Given the description of an element on the screen output the (x, y) to click on. 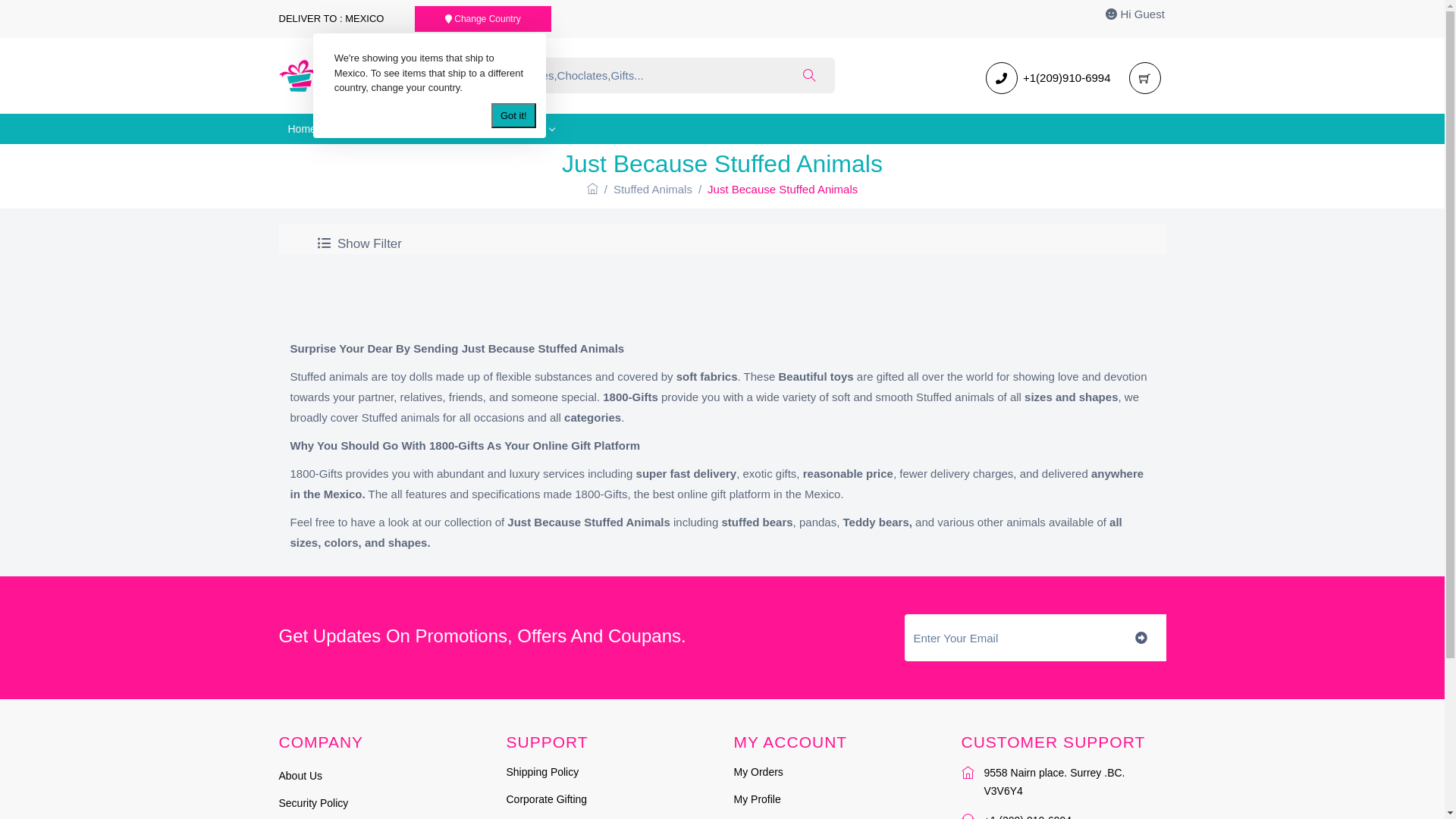
Stuffed Animals Element type: text (652, 189)
  Show Filter Element type: text (358, 243)
Home Element type: text (302, 128)
Hi Guest Element type: text (1134, 13)
Shipping Policy Element type: text (542, 771)
Occassion Element type: text (454, 128)
My Profile Element type: text (757, 799)
name Element type: hover (1009, 637)
DELIVER TO : MEXICO Element type: text (331, 18)
Category Element type: text (527, 128)
Just Because Element type: text (370, 128)
Continue Element type: text (700, 419)
Security Policy Element type: text (313, 803)
About Us Element type: text (301, 775)
Just Because Stuffed Animals Element type: text (782, 189)
Corporate Gifting Element type: text (546, 799)
My Orders Element type: text (758, 771)
Got it! Element type: text (513, 115)
